Given the description of an element on the screen output the (x, y) to click on. 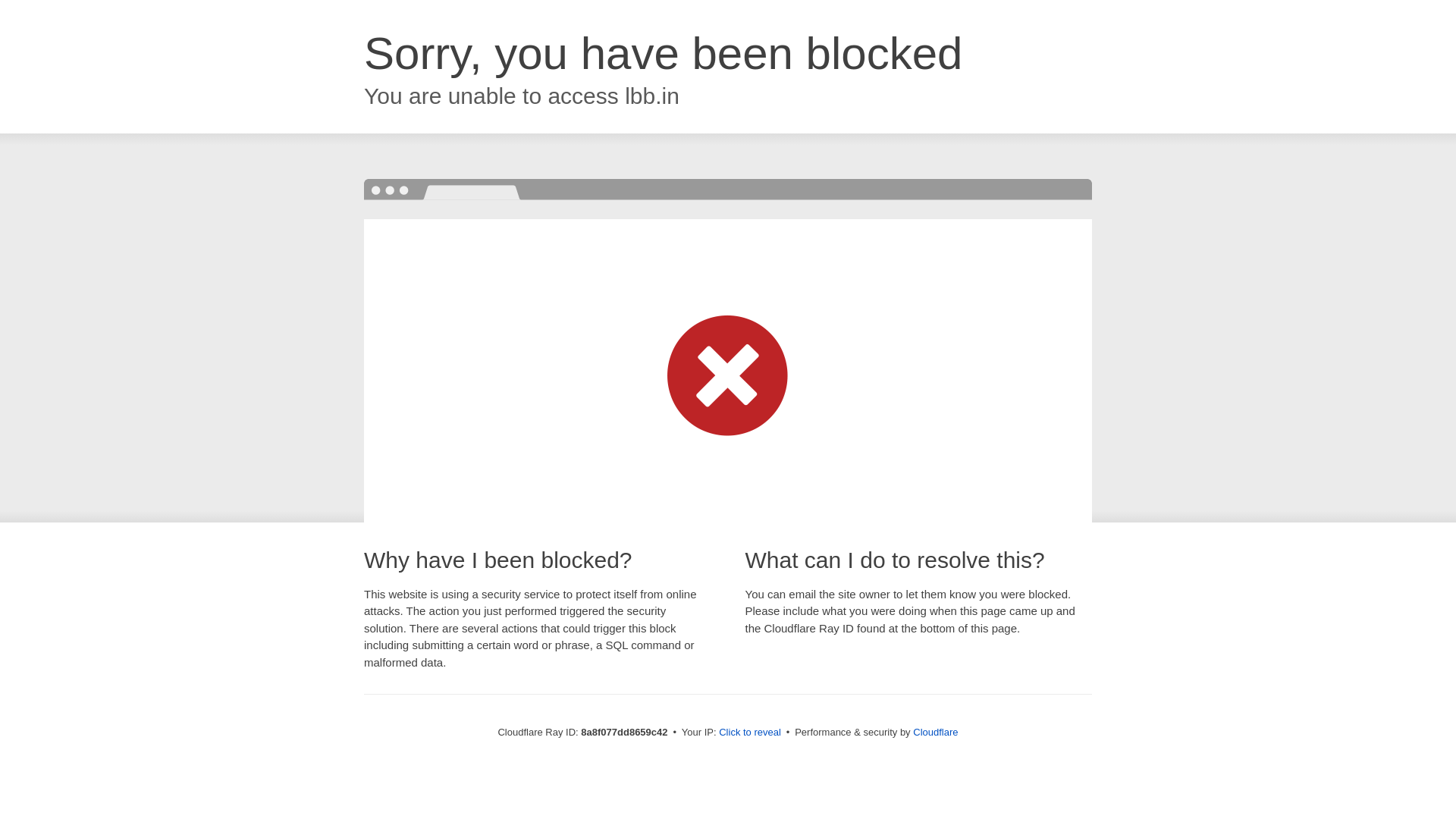
Click to reveal (749, 732)
Cloudflare (935, 731)
